Given the description of an element on the screen output the (x, y) to click on. 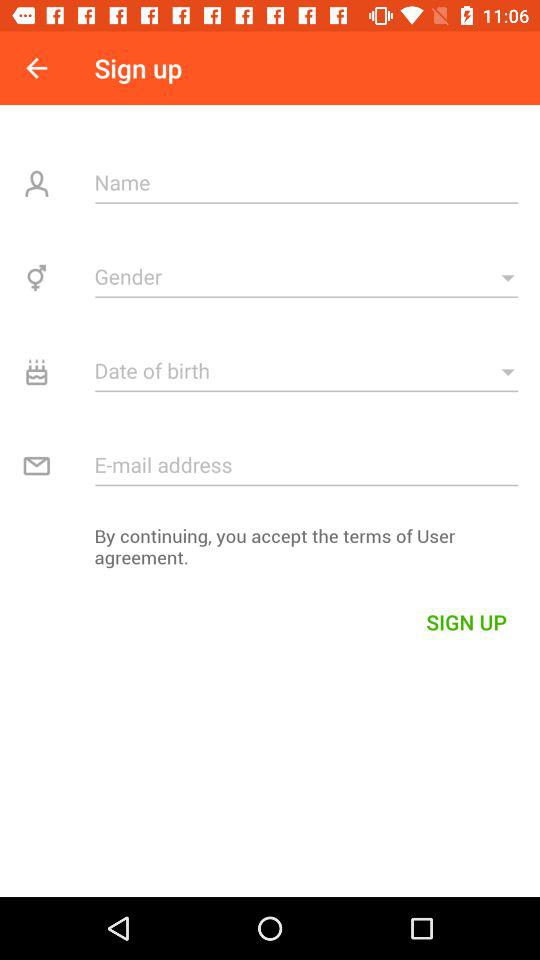
press the item above sign up (270, 551)
